Given the description of an element on the screen output the (x, y) to click on. 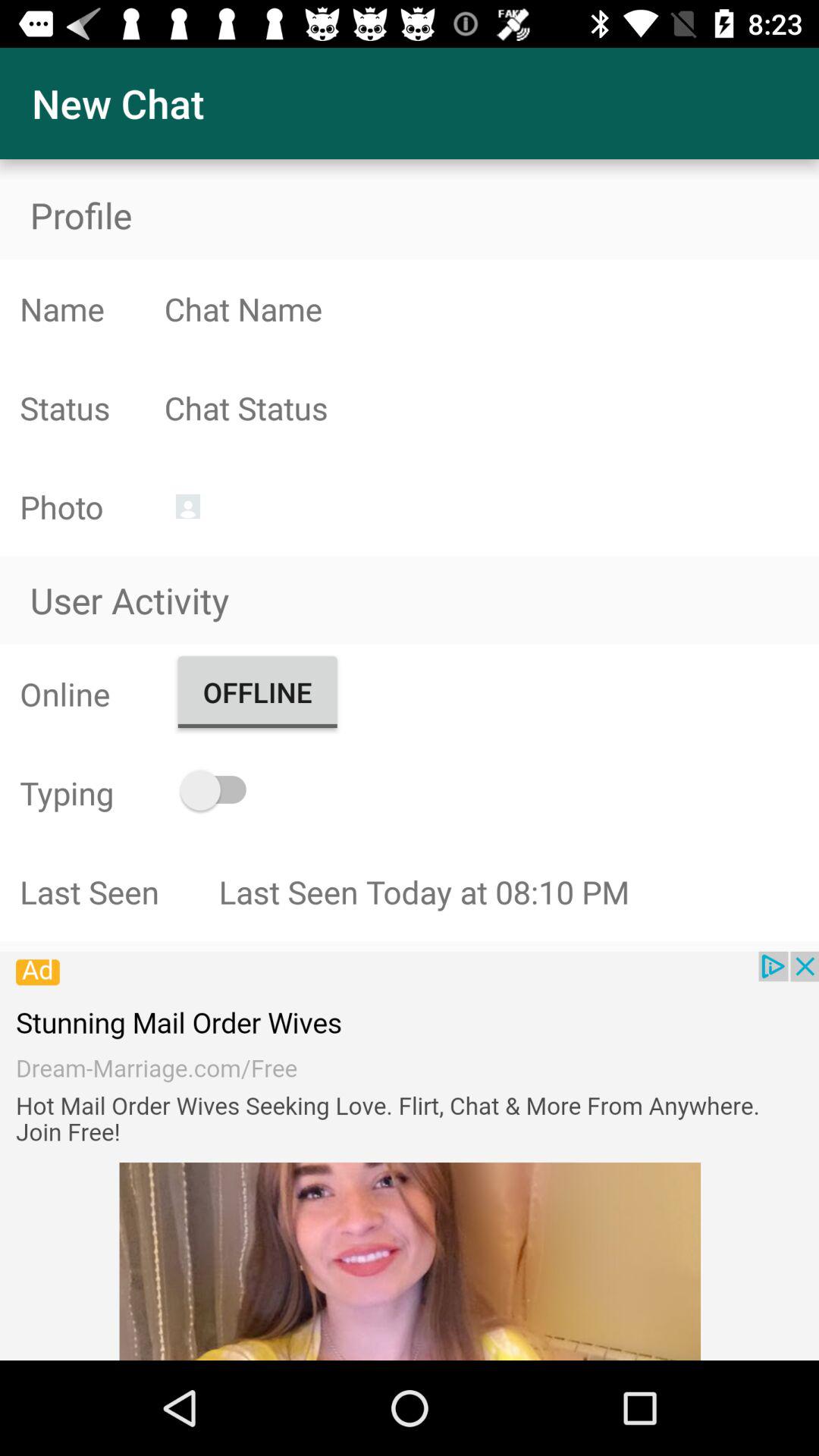
text box for chat status (491, 407)
